Given the description of an element on the screen output the (x, y) to click on. 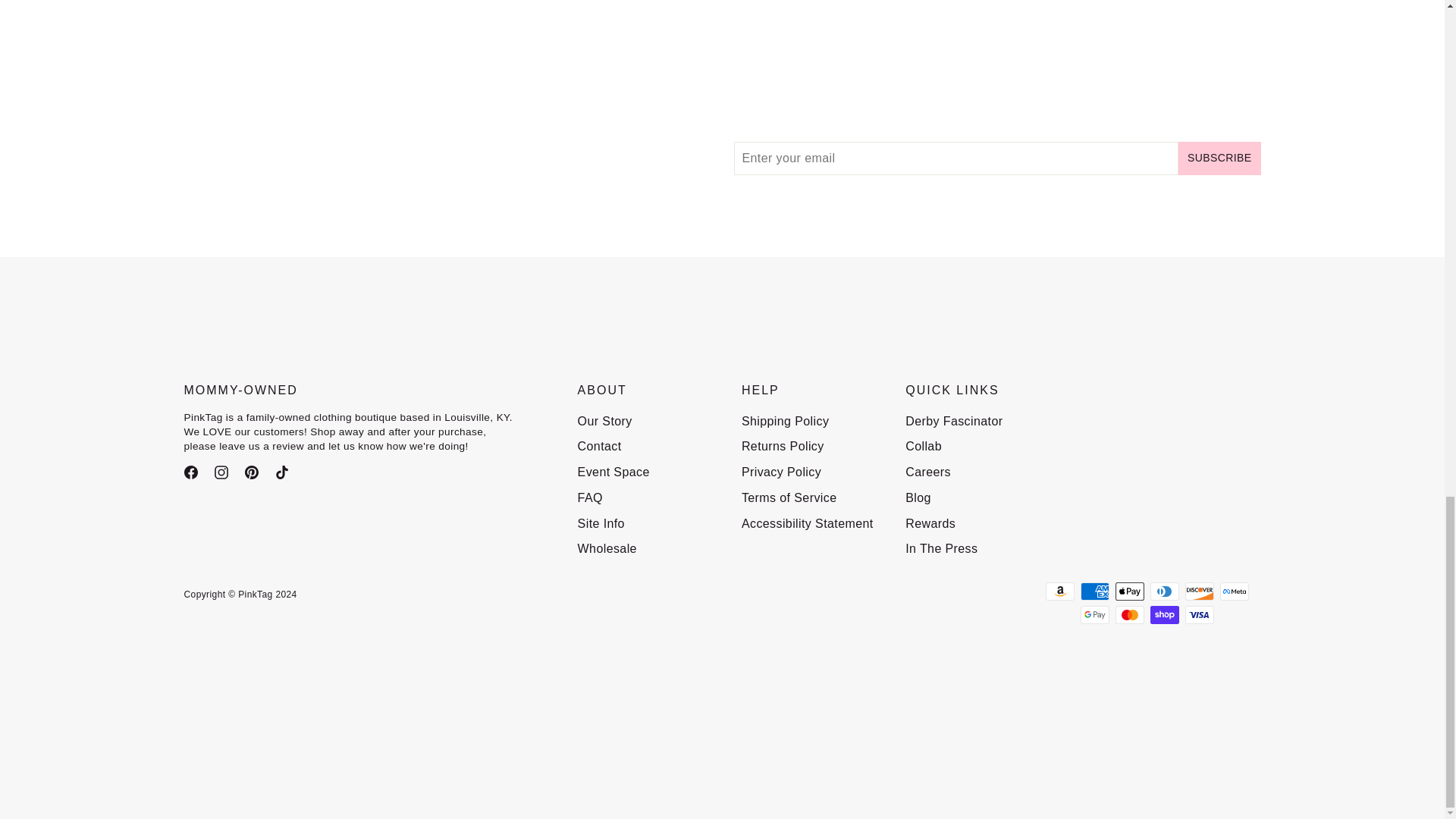
PinkTag on Instagram (220, 472)
Apple Pay (1128, 591)
Diners Club (1163, 591)
PinkTag on TikTok (281, 472)
Shop Pay (1163, 615)
American Express (1094, 591)
Google Pay (1094, 615)
Meta Pay (1233, 591)
PinkTag on Facebook (189, 472)
Visa (1198, 615)
